Given the description of an element on the screen output the (x, y) to click on. 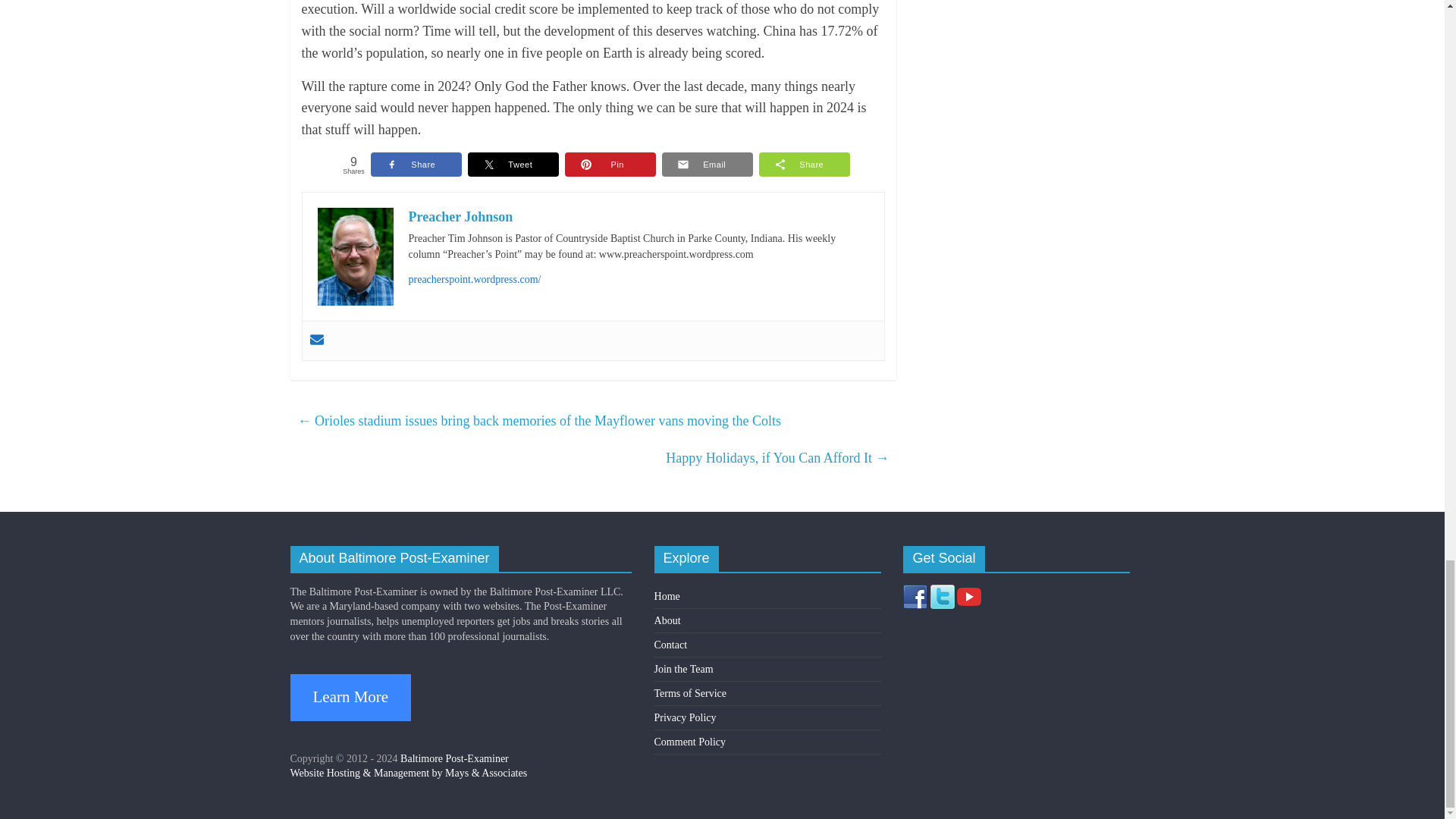
Baltimore Post-Examiner (454, 758)
Preacher Johnson (459, 216)
